Given the description of an element on the screen output the (x, y) to click on. 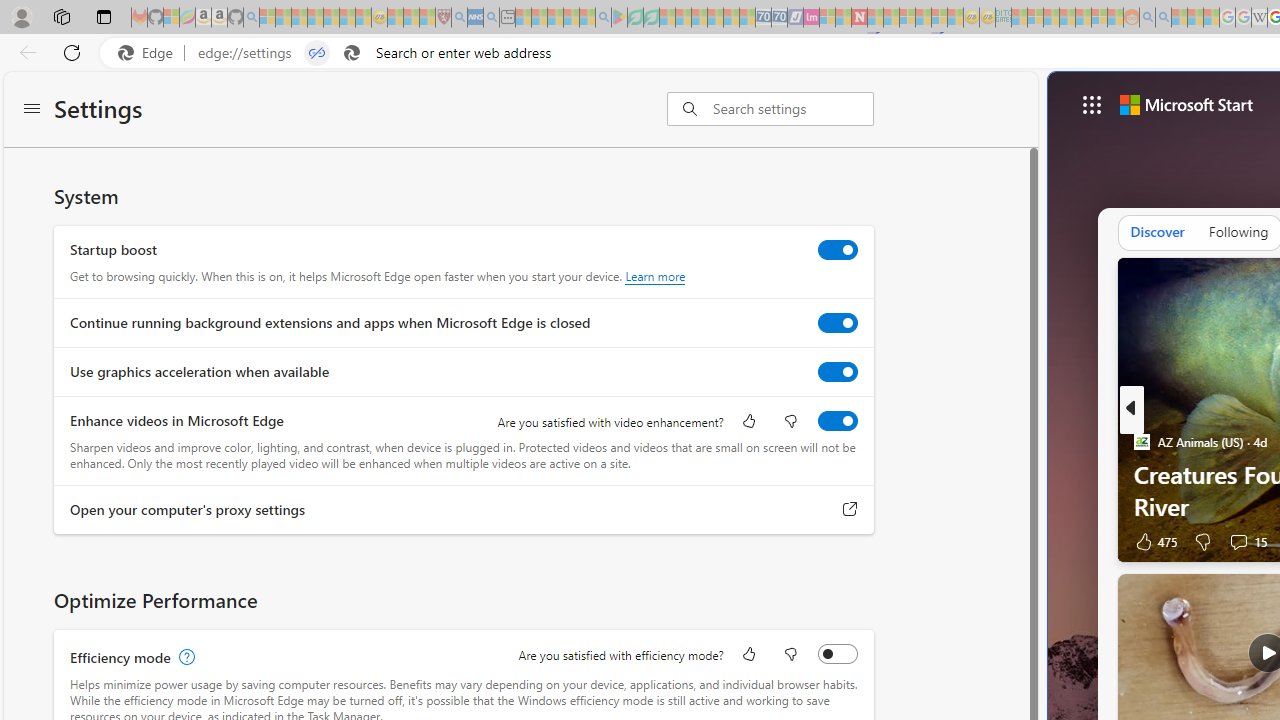
Efficiency mode, learn more (184, 657)
Like (748, 655)
App launcher (1092, 104)
utah sues federal government - Search - Sleeping (491, 17)
Microsoft start (1186, 104)
Pets - MSN - Sleeping (571, 17)
Terms of Use Agreement - Sleeping (635, 17)
